Given the description of an element on the screen output the (x, y) to click on. 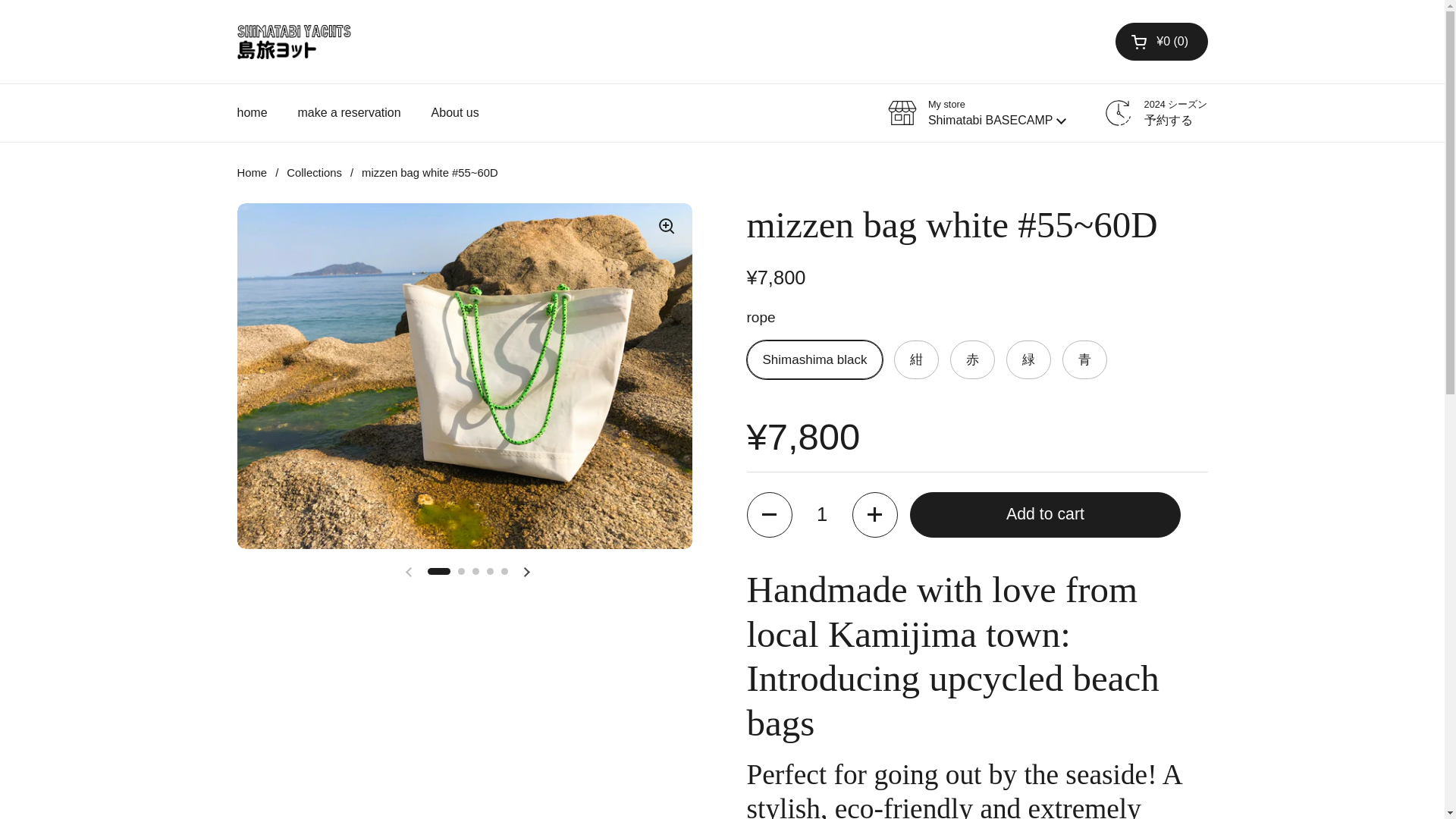
About us (455, 112)
Collections (314, 173)
1 (821, 514)
Open cart (1161, 41)
home (251, 112)
make a reservation (349, 112)
Home (250, 173)
make a reservation (349, 112)
home (251, 112)
